Given the description of an element on the screen output the (x, y) to click on. 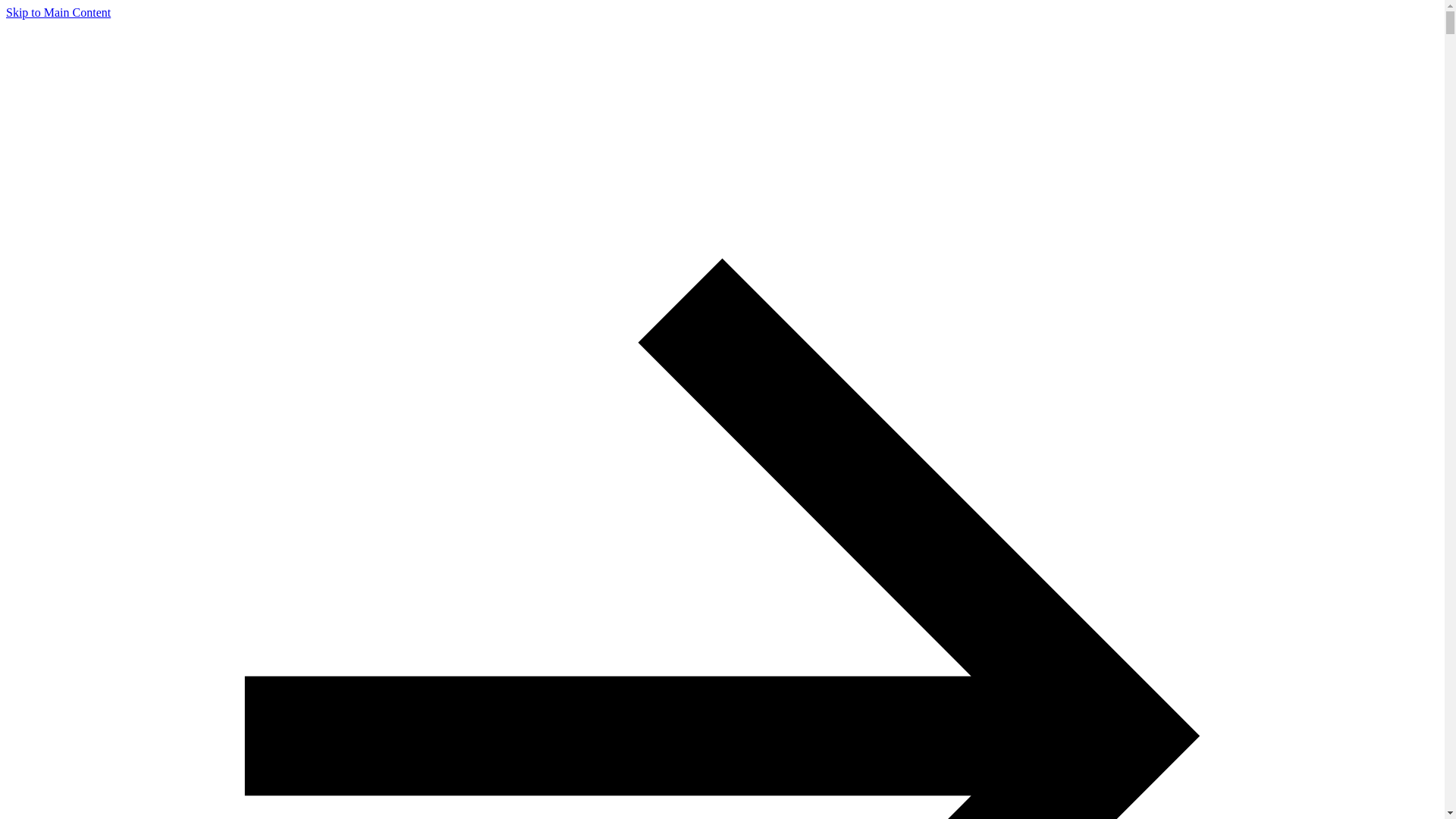
Skip to Main Content (57, 11)
